Given the description of an element on the screen output the (x, y) to click on. 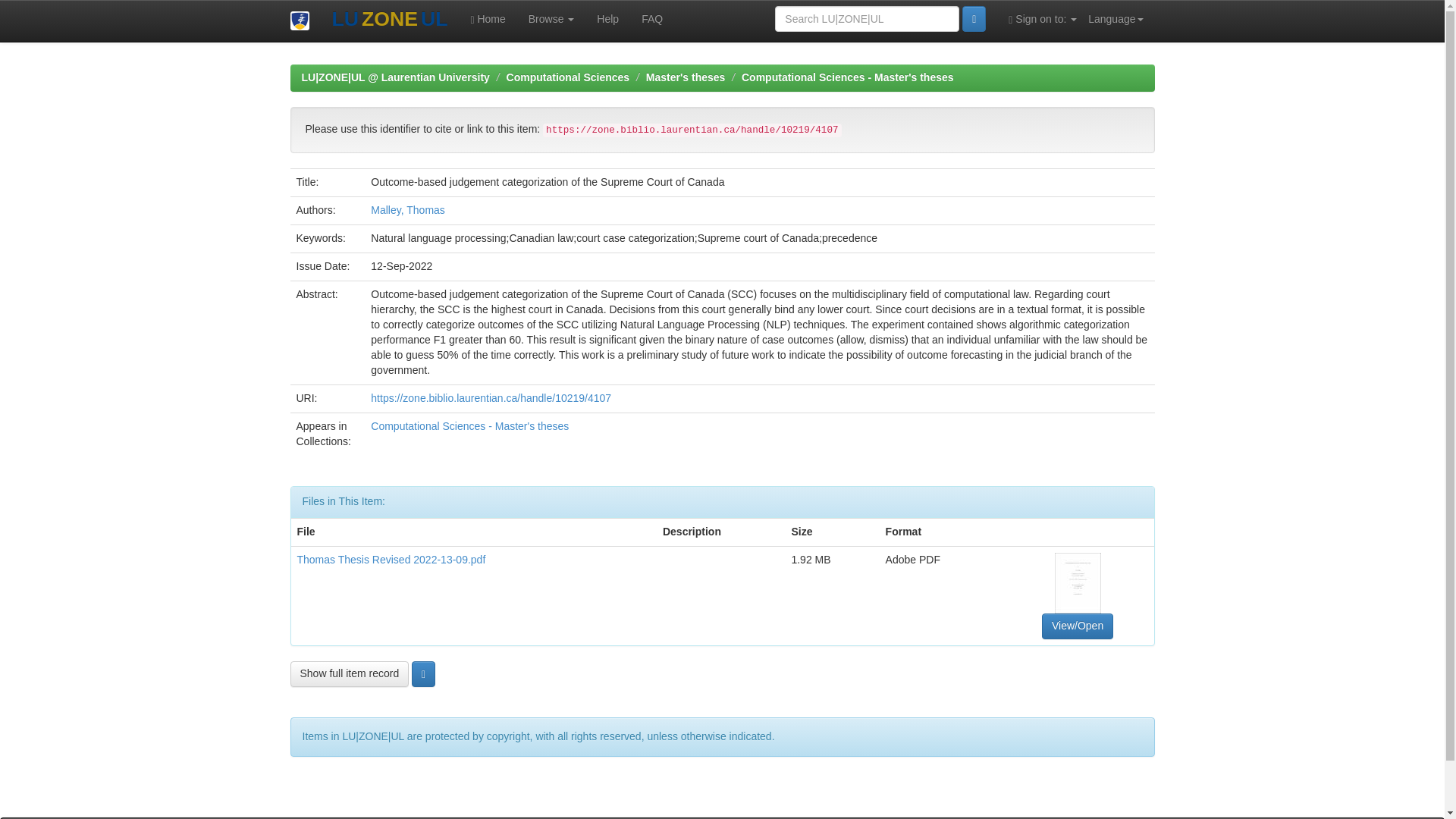
Show full item record (349, 673)
Sign on to: (1042, 18)
Help (607, 18)
Computational Sciences - Master's theses (470, 426)
Browse (551, 18)
Computational Sciences - Master's theses (847, 77)
FAQ (652, 18)
Malley, Thomas (408, 209)
Thomas Thesis Revised 2022-13-09.pdf (391, 559)
Computational Sciences (568, 77)
LU ZONE UL (389, 20)
Language (1115, 18)
Master's theses (685, 77)
Home (487, 18)
